Given the description of an element on the screen output the (x, y) to click on. 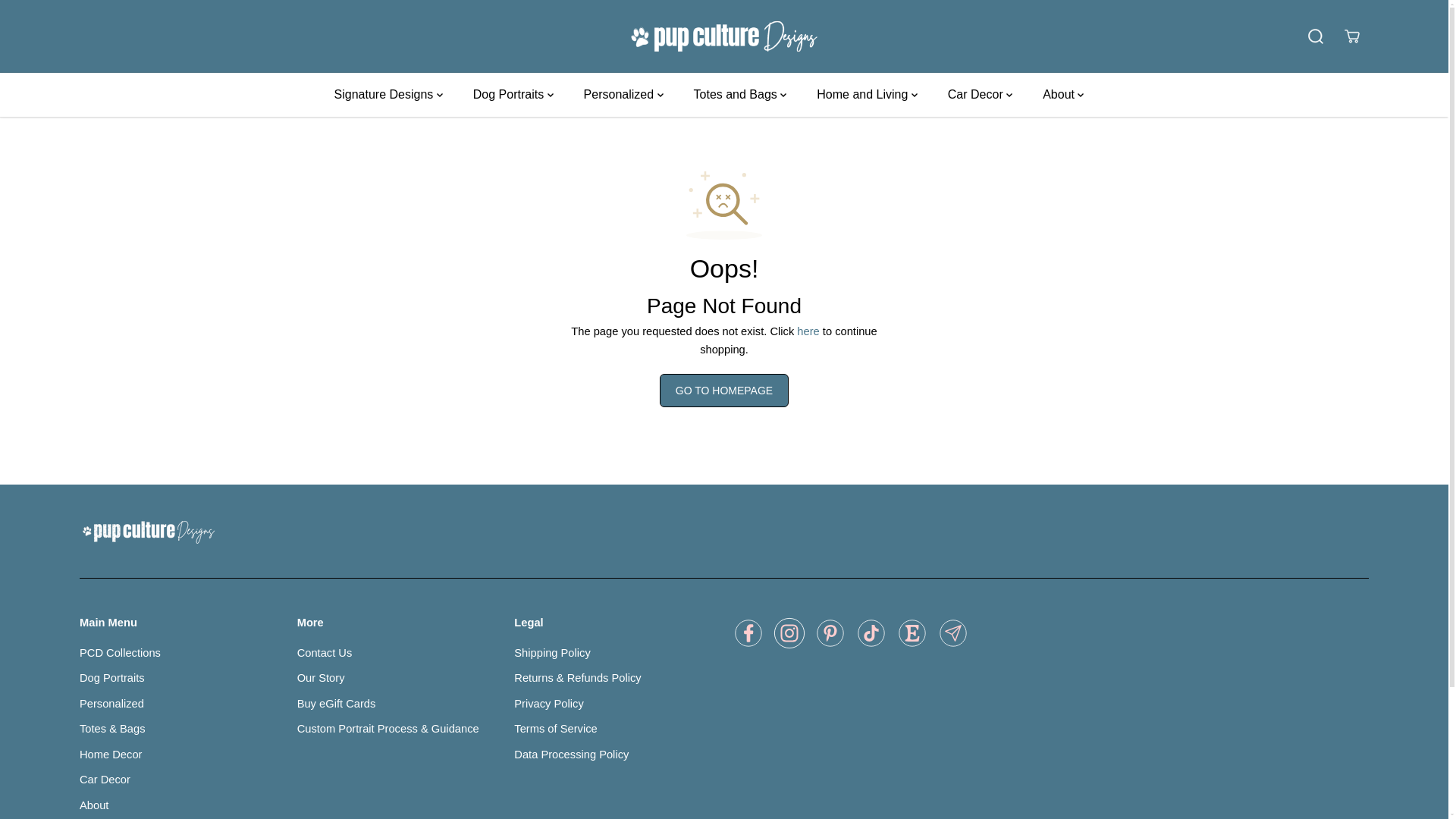
Cart (1351, 36)
Search (1315, 36)
SKIP TO CONTENT (60, 18)
